Given the description of an element on the screen output the (x, y) to click on. 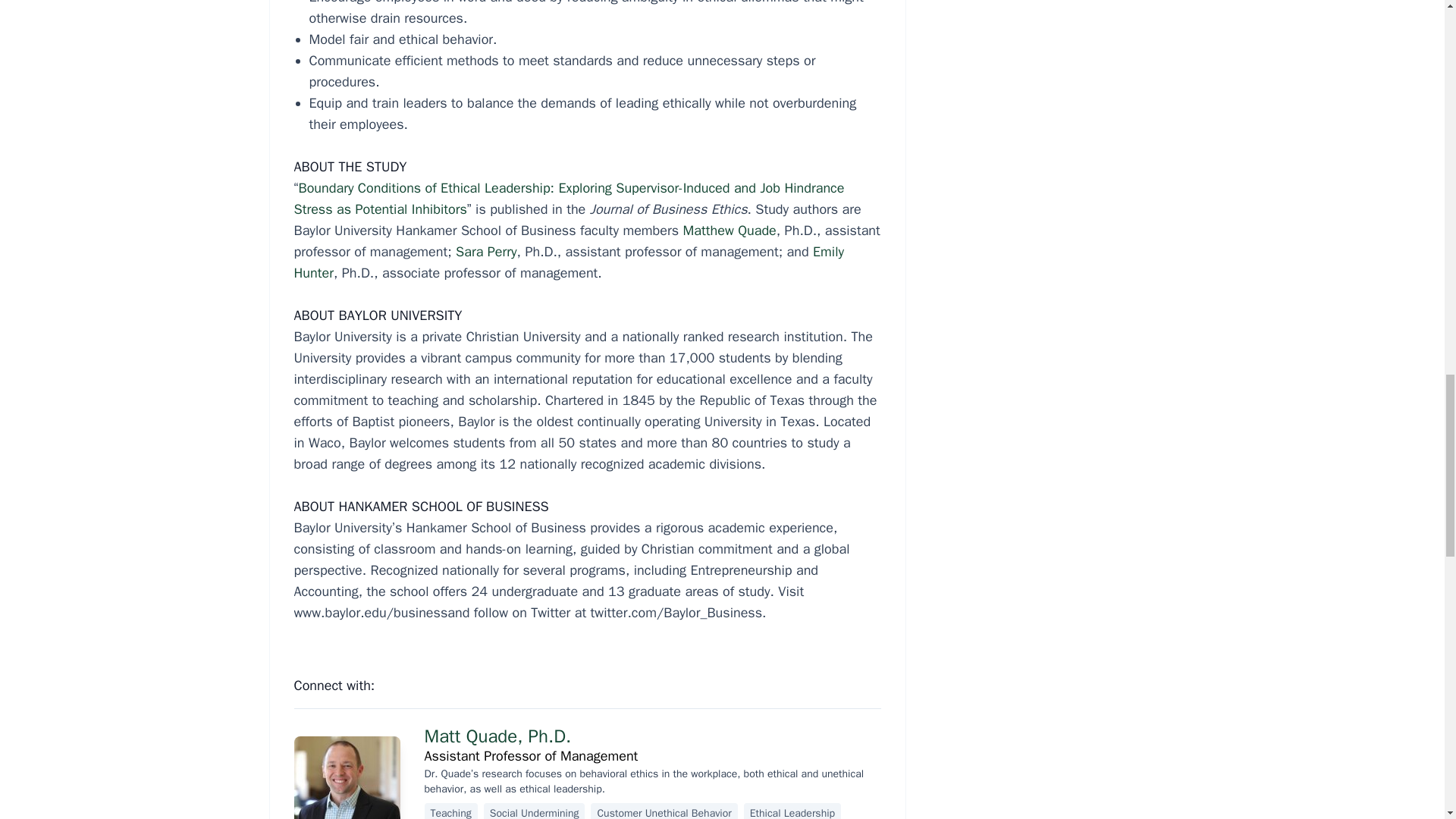
Matt Quade, Ph.D. (498, 735)
Emily Hunter (569, 262)
Matthew Quade (729, 230)
Sara Perry (485, 251)
